Given the description of an element on the screen output the (x, y) to click on. 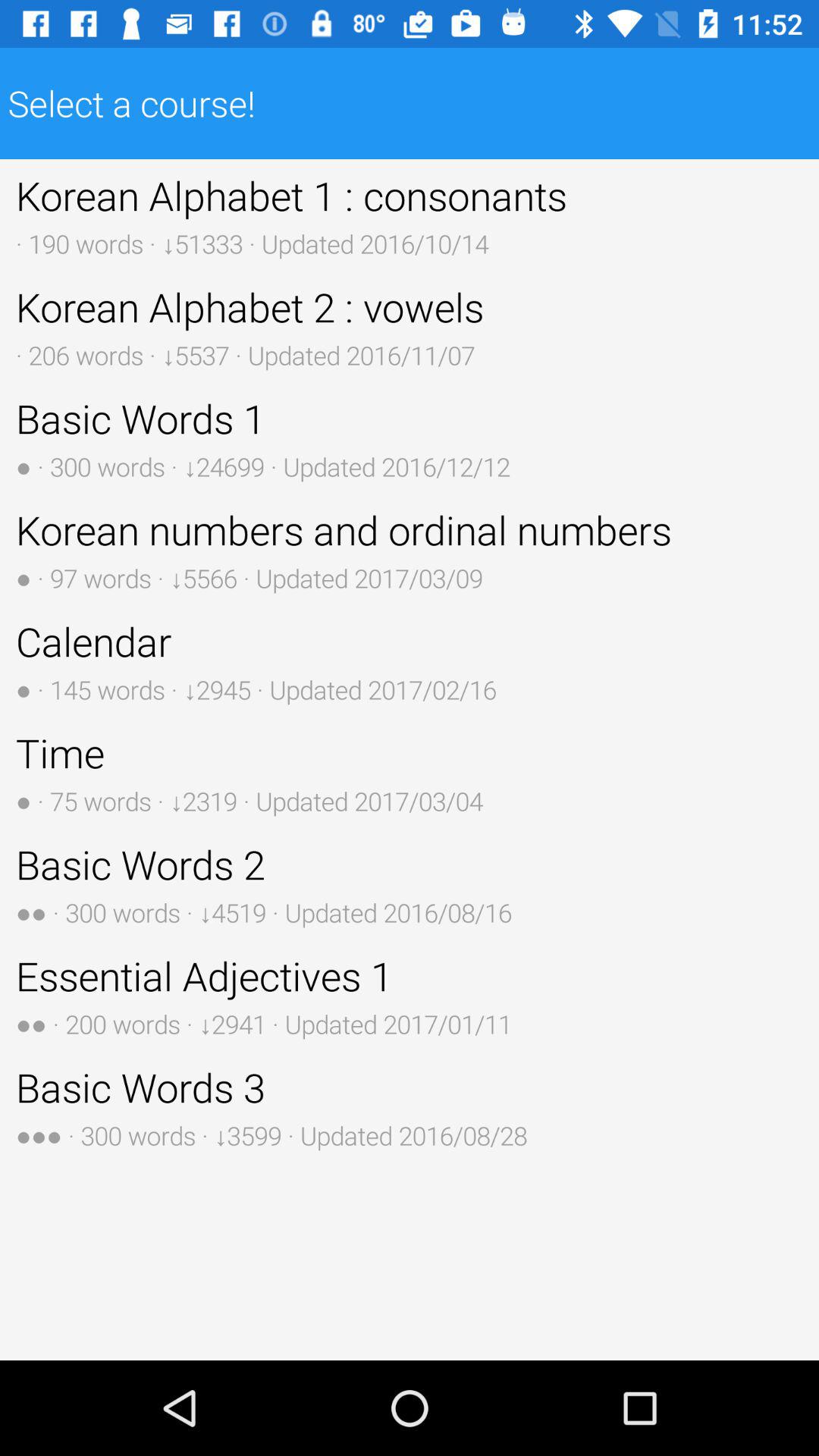
turn off icon below korean numbers and (409, 660)
